Given the description of an element on the screen output the (x, y) to click on. 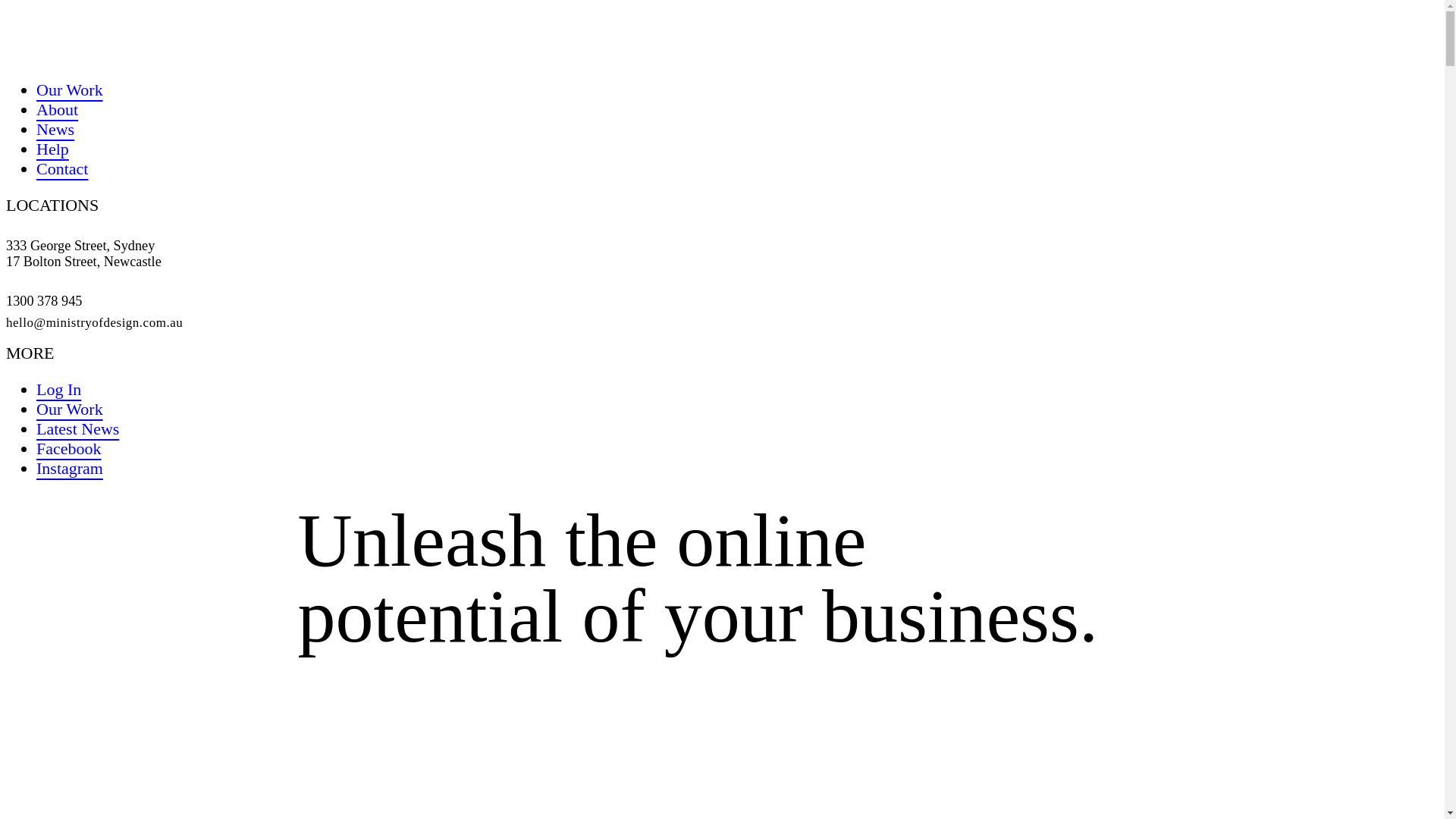
Help Element type: text (52, 148)
Our Work Element type: text (69, 408)
Latest News Element type: text (77, 428)
Log In Element type: text (58, 388)
About Element type: text (57, 109)
Our Work Element type: text (69, 89)
Instagram Element type: text (69, 467)
Contact Element type: text (61, 168)
News Element type: text (55, 128)
Facebook Element type: text (68, 448)
